Given the description of an element on the screen output the (x, y) to click on. 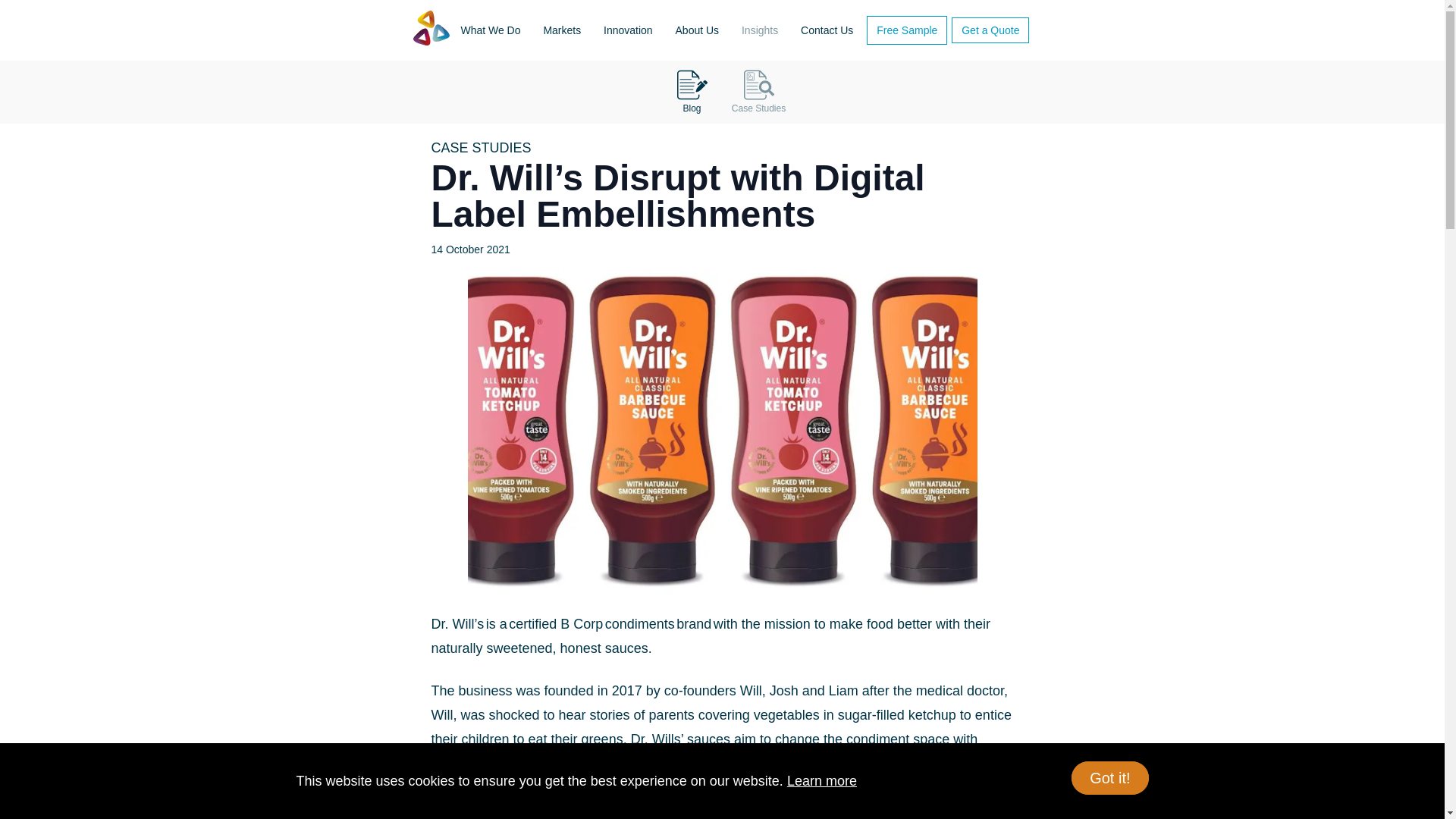
Free Sample (906, 30)
About Us (697, 29)
Case Studies (758, 91)
What We Do (490, 29)
Got it! (1109, 777)
Get a Quote (990, 30)
Blog (691, 91)
Learn more (822, 780)
Markets (561, 29)
Insights (759, 29)
Innovation (628, 29)
Case Studies (755, 91)
Contact Us (826, 29)
Blog (688, 91)
